Given the description of an element on the screen output the (x, y) to click on. 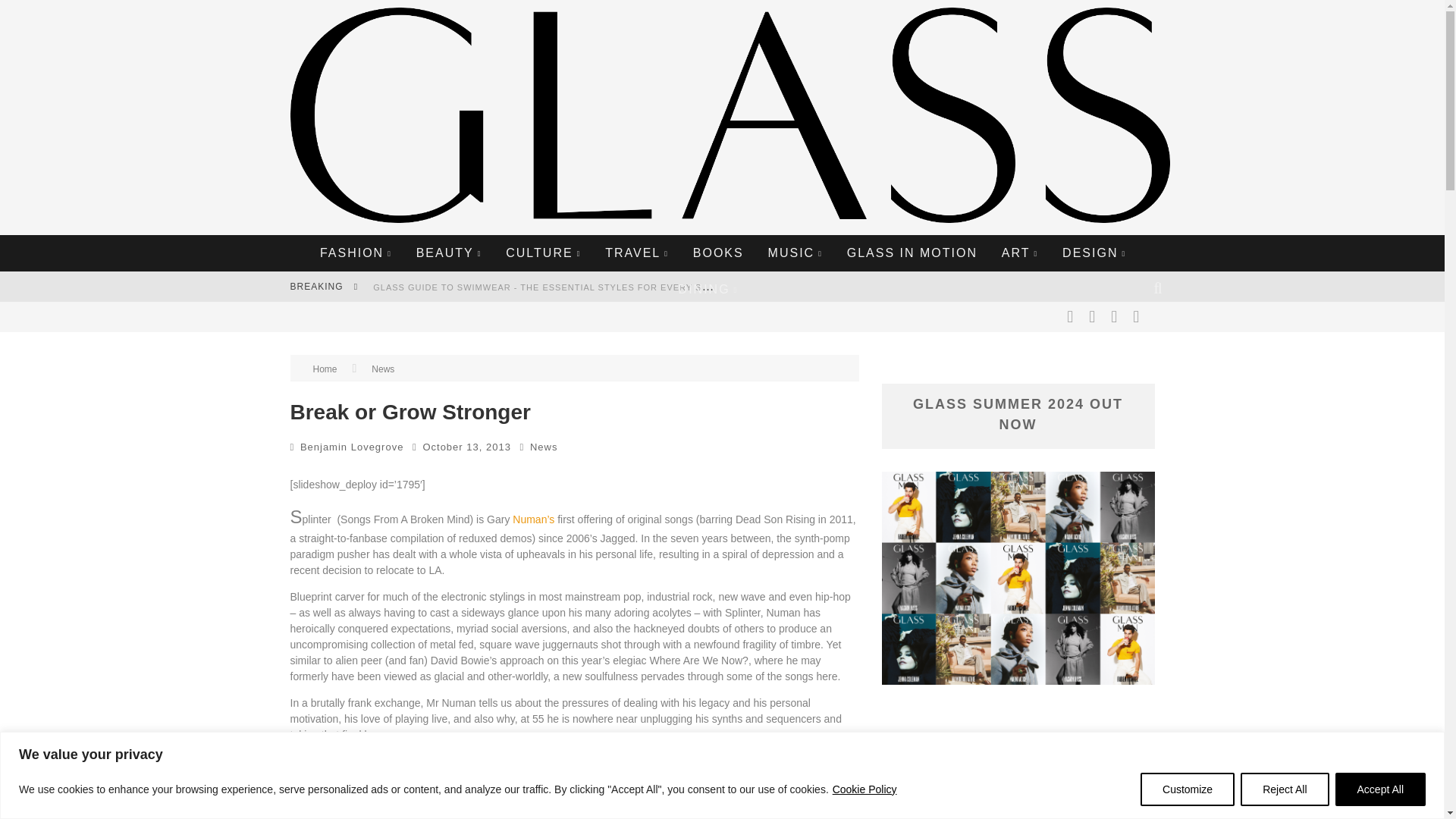
Cookie Policy (864, 789)
Customize (1187, 788)
Reject All (1283, 788)
Accept All (1380, 788)
